Given the description of an element on the screen output the (x, y) to click on. 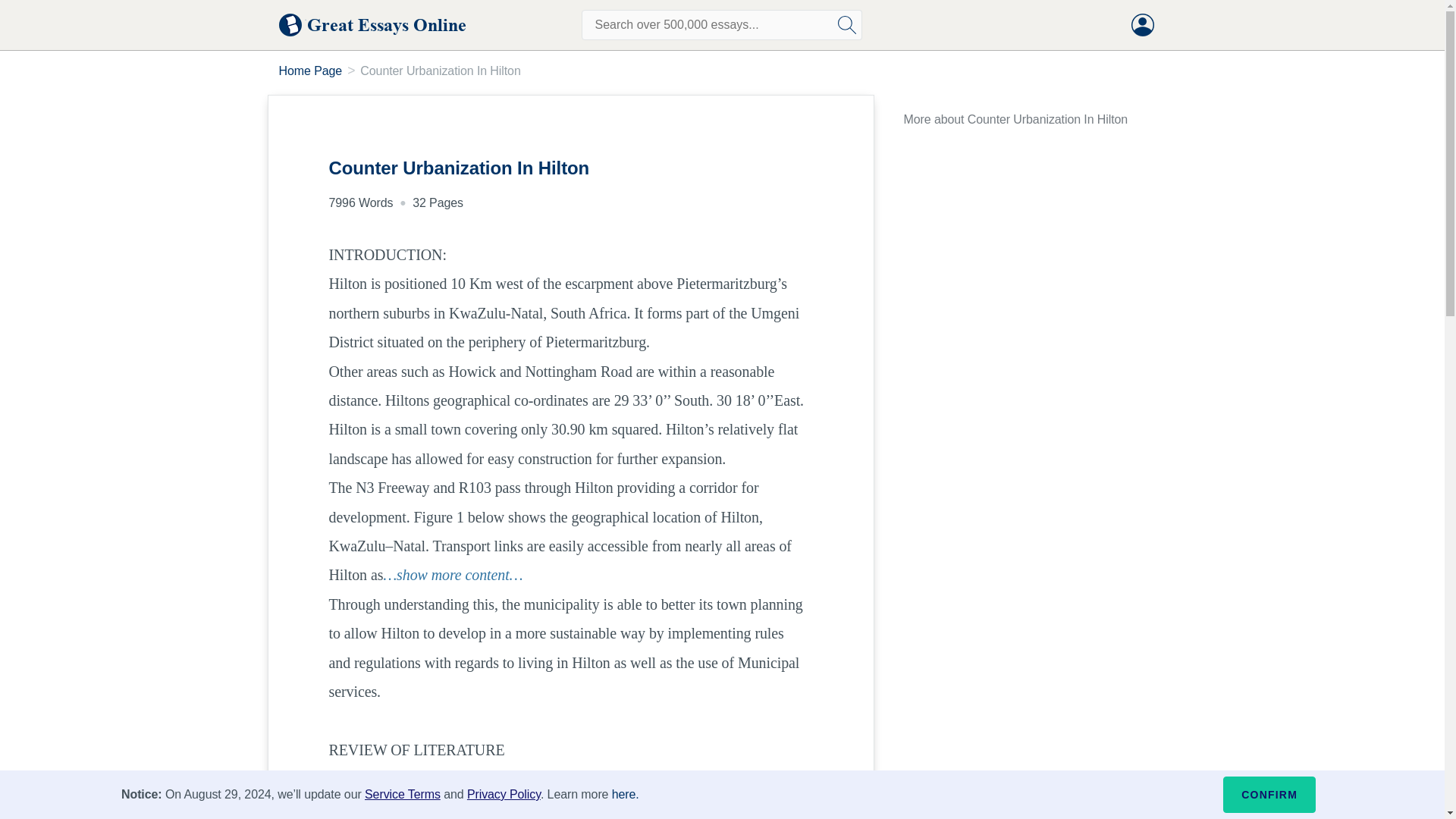
Home Page (310, 70)
Privacy Policy (503, 793)
Service Terms (403, 793)
CONFIRM (1269, 794)
here. (625, 793)
